Given the description of an element on the screen output the (x, y) to click on. 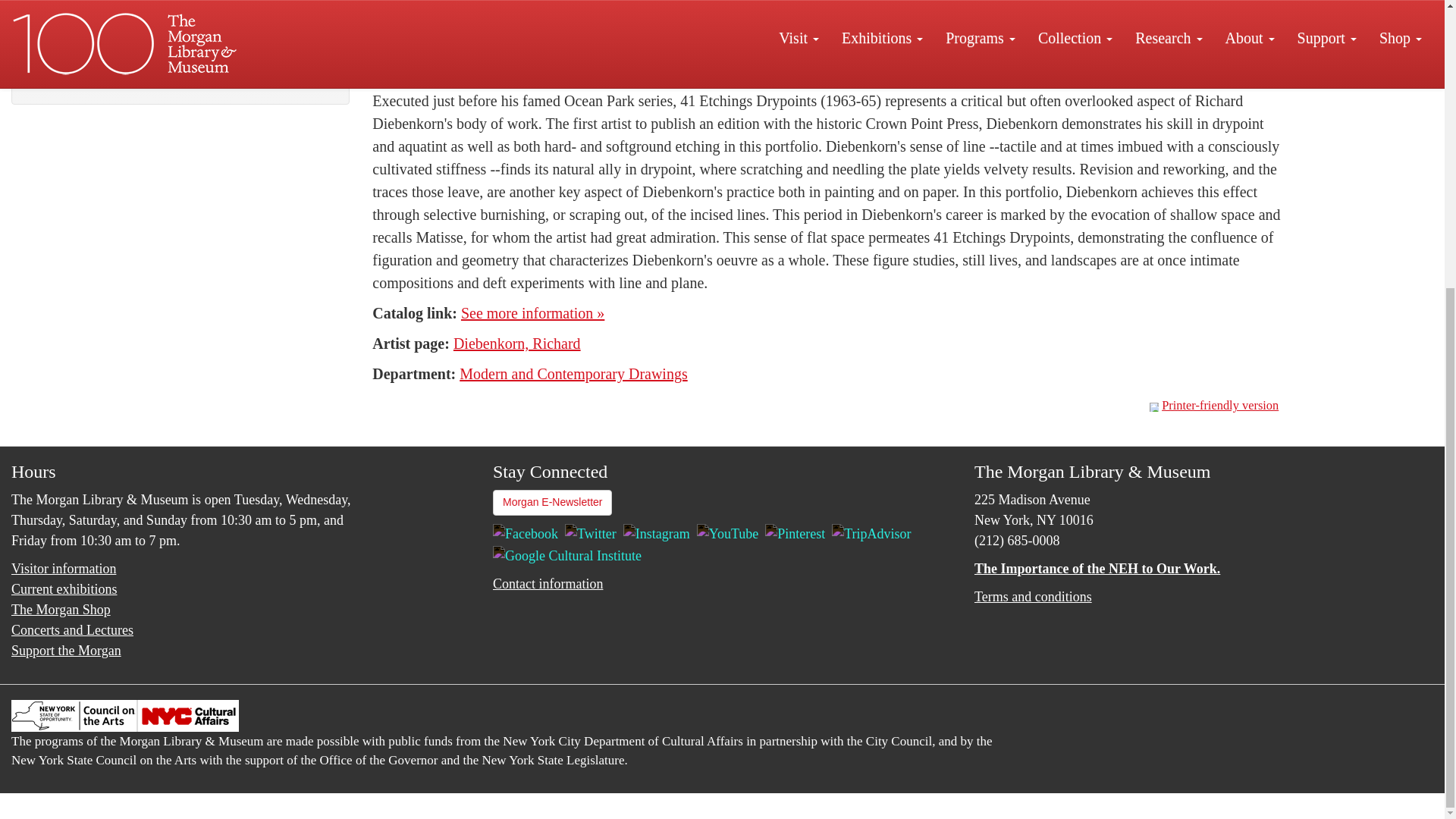
Printer-friendly version (1155, 406)
Display a printer-friendly version of this page. (1214, 405)
Google conversion frame (75, 803)
